Given the description of an element on the screen output the (x, y) to click on. 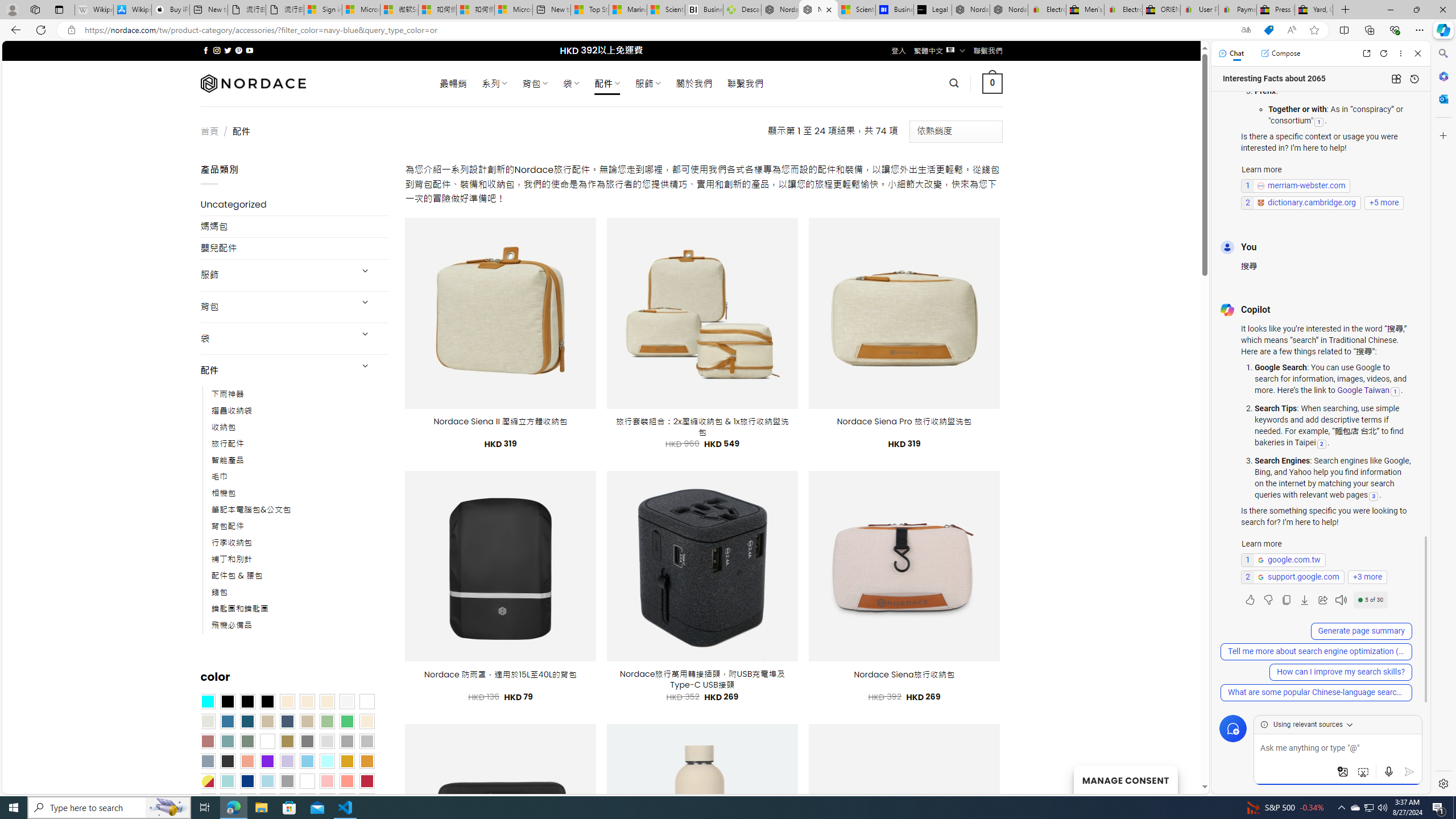
Uncategorized (294, 204)
